Given the description of an element on the screen output the (x, y) to click on. 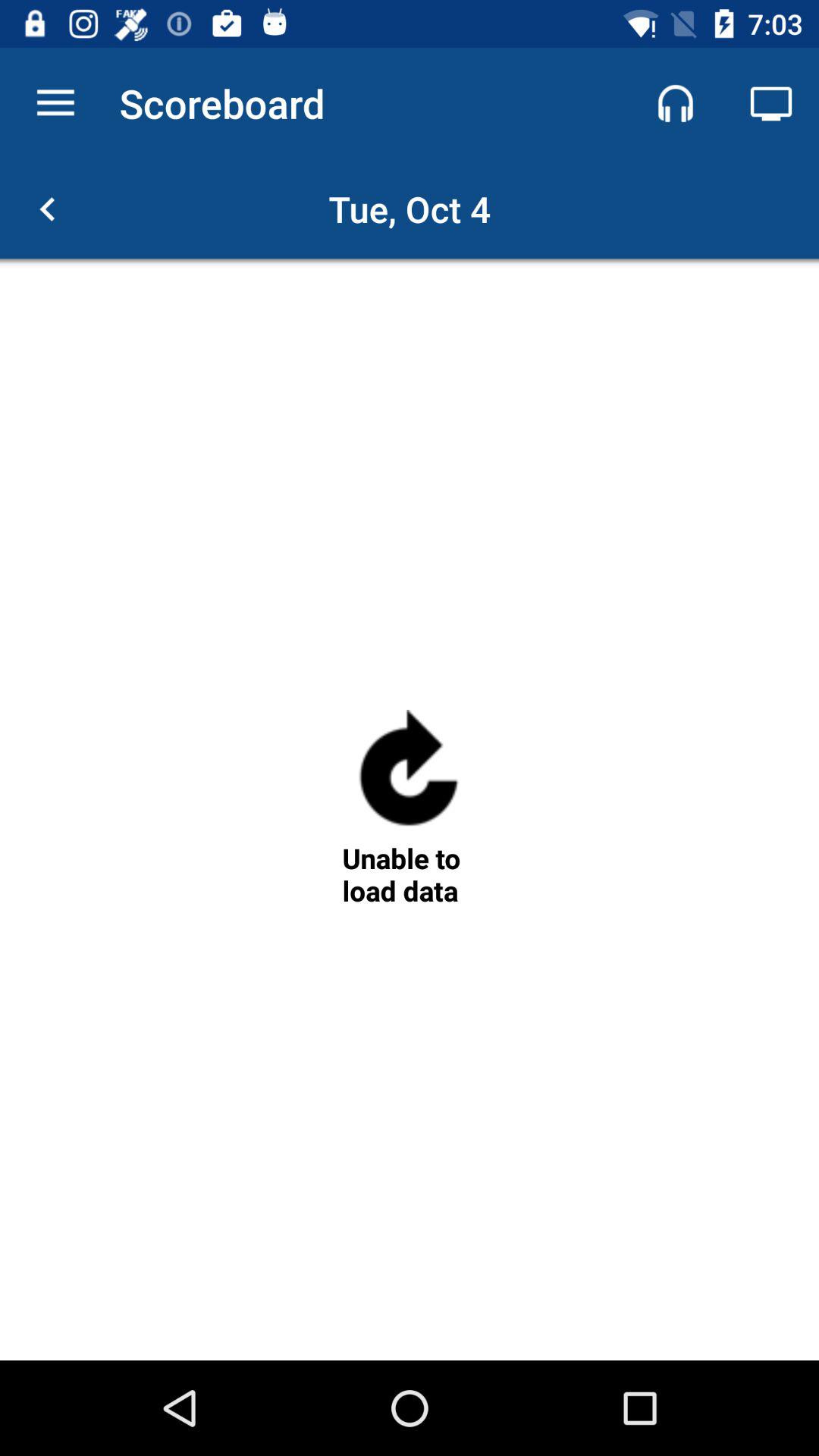
tap item next to the scoreboard app (675, 103)
